Given the description of an element on the screen output the (x, y) to click on. 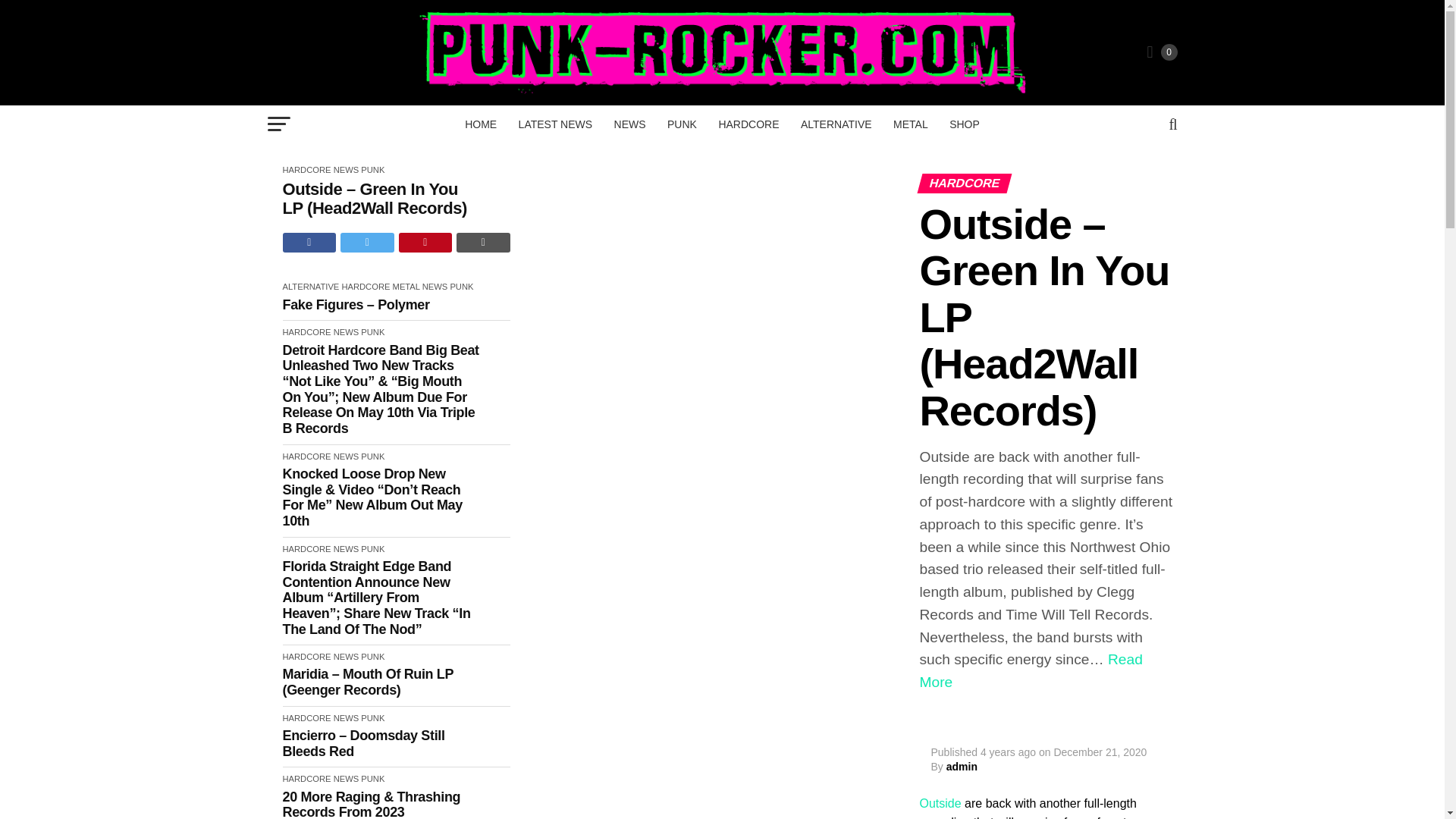
ALTERNATIVE (836, 124)
HOME (480, 124)
NEWS (630, 124)
PUNK (682, 124)
Tweet This Post (367, 242)
Pin This Post (425, 242)
METAL (910, 124)
HARDCORE (748, 124)
Share on Facebook (309, 242)
LATEST NEWS (555, 124)
